Given the description of an element on the screen output the (x, y) to click on. 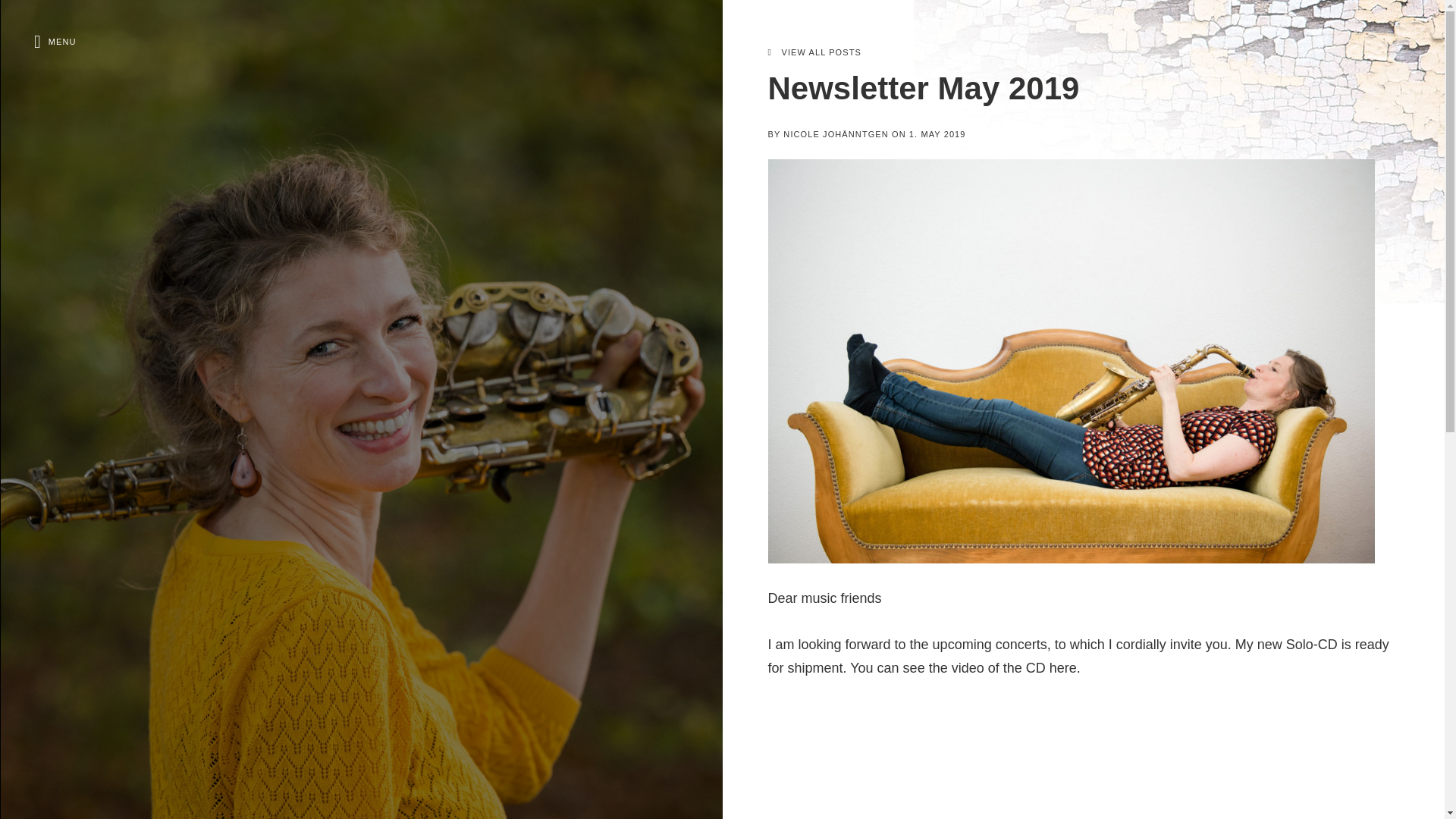
1. MAY 2019 (937, 133)
VIEW ALL POSTS (813, 52)
MENU (55, 41)
